Given the description of an element on the screen output the (x, y) to click on. 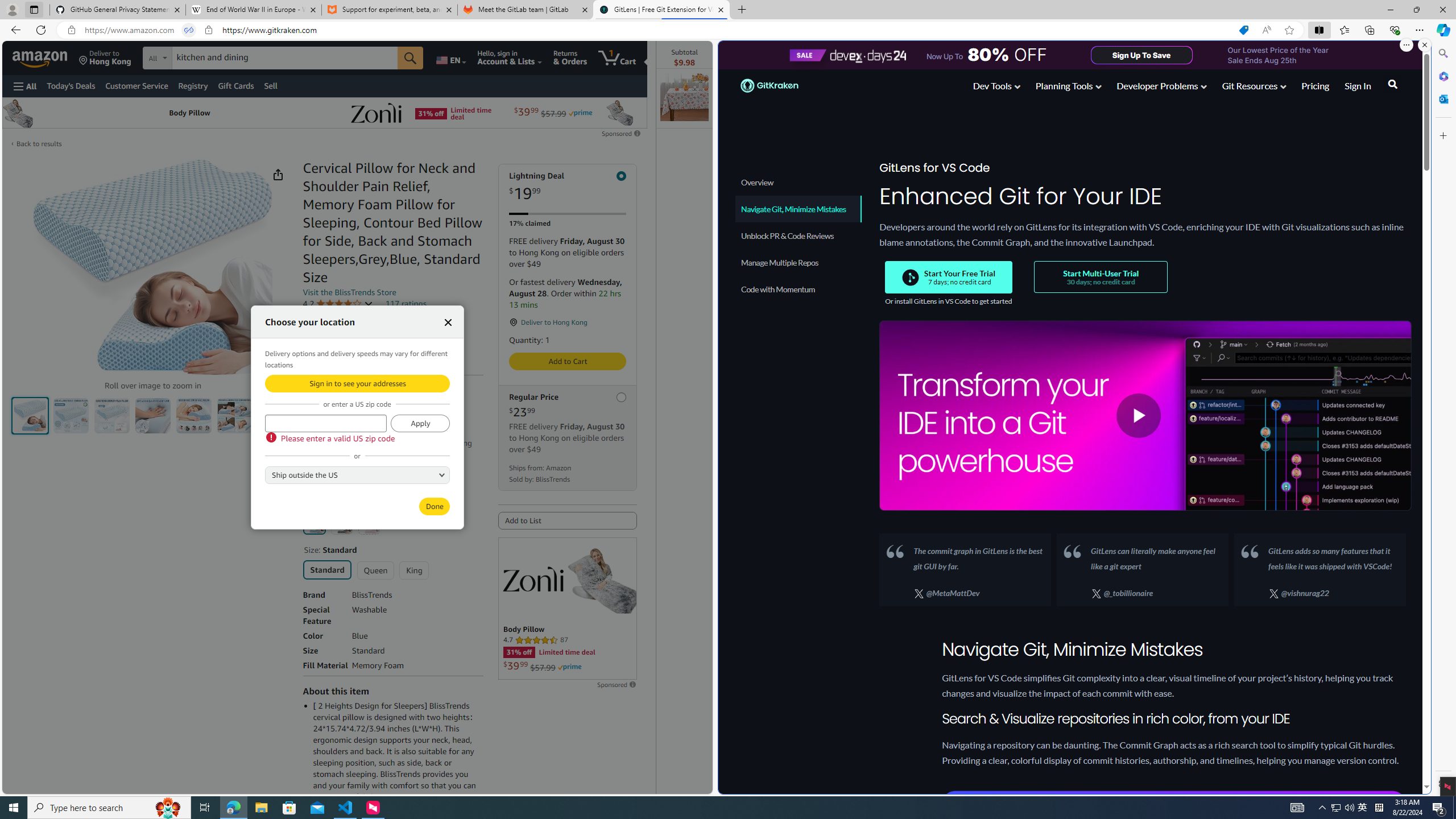
Open Menu (25, 86)
Choose a language for shopping. (450, 57)
or enter a US zip code (325, 423)
Pink (369, 522)
Navigate Git, Minimize Mistakes (797, 209)
Navigate Git, Minimize Mistakes (798, 208)
Go (410, 57)
Grey (341, 522)
Start Your Free Trial 7 days; no credit card (948, 277)
Add to List (567, 520)
End of World War II in Europe - Wikipedia (253, 9)
